Given the description of an element on the screen output the (x, y) to click on. 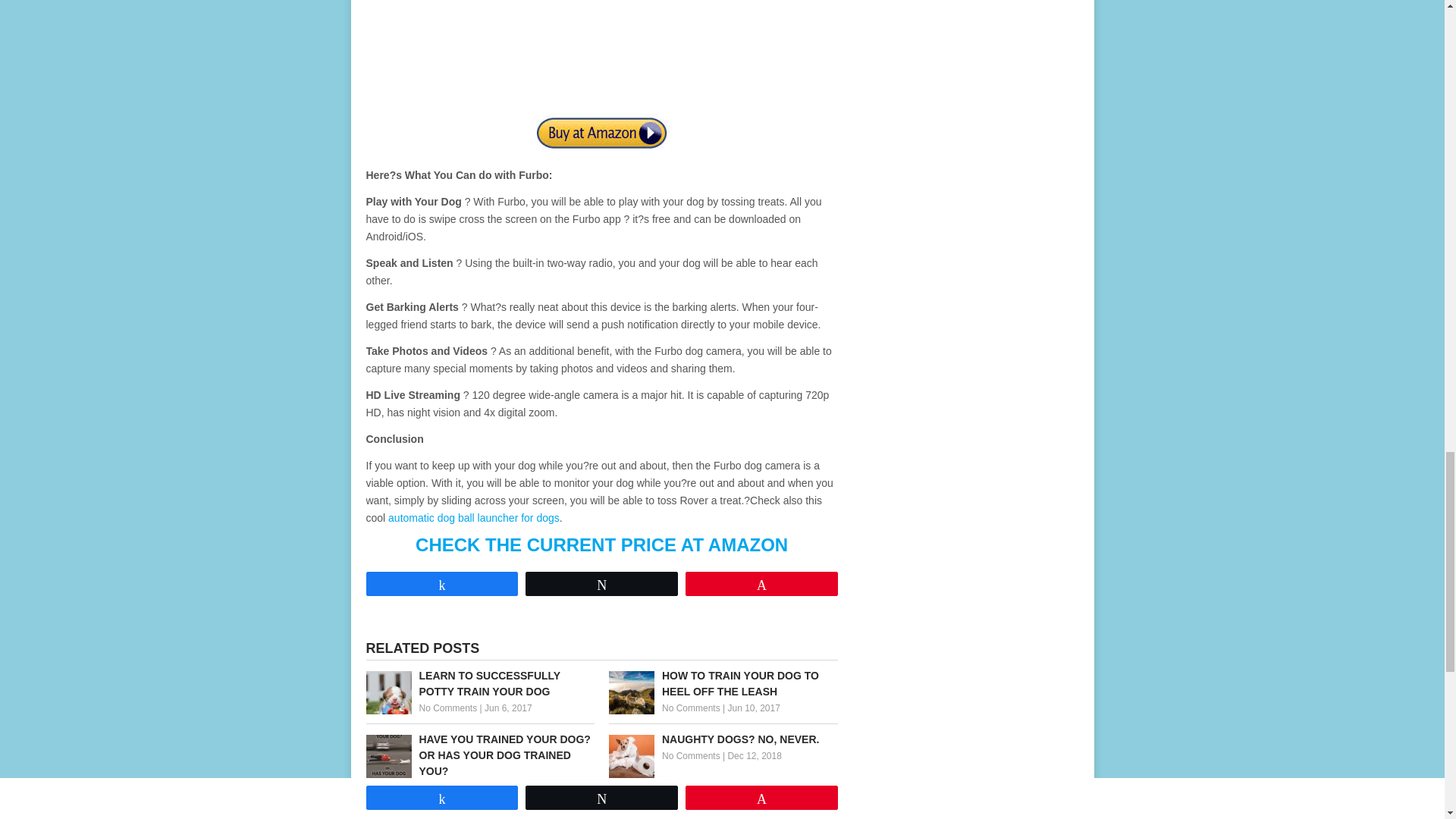
automatic dog ball launcher for dogs (473, 517)
CHECK THE CURRENT PRICE AT AMAZON (600, 544)
HAVE YOU TRAINED YOUR DOG? OR HAS YOUR DOG TRAINED YOU? (479, 755)
No Comments (448, 707)
How To Train Your Dog To Heel Off The Leash (723, 684)
Learn to Successfully Potty Train Your Dog (479, 684)
Naughty Dogs? No, Never. (723, 739)
Have You Trained Your Dog? Or Has Your Dog Trained You? (479, 755)
No Comments (394, 787)
No Comments (691, 756)
No Comments (691, 707)
LEARN TO SUCCESSFULLY POTTY TRAIN YOUR DOG (479, 684)
NAUGHTY DOGS? NO, NEVER. (723, 739)
HOW TO TRAIN YOUR DOG TO HEEL OFF THE LEASH (723, 684)
